Given the description of an element on the screen output the (x, y) to click on. 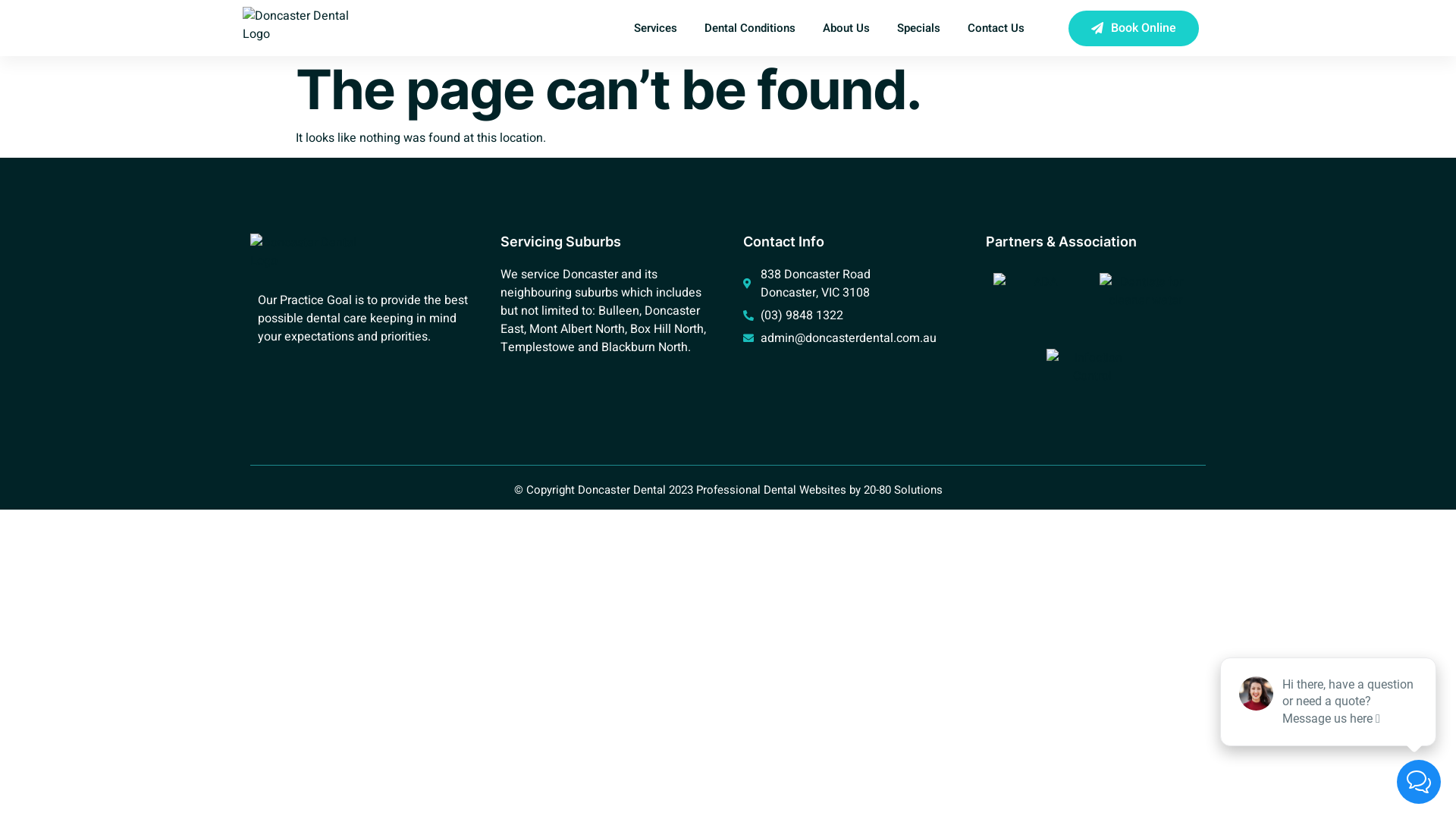
admin@doncasterdental.com.au Element type: text (849, 338)
Specials Element type: text (918, 27)
Book Online Element type: text (1133, 28)
Contact Us Element type: text (995, 27)
Blackburn North Element type: text (644, 347)
Box Hill North Element type: text (666, 329)
Dental Conditions Element type: text (749, 27)
Bulleen Element type: text (618, 310)
838 Doncaster Road
Doncaster, VIC 3108 Element type: text (849, 283)
Templestowe Element type: text (537, 347)
Services Element type: text (655, 27)
About Us Element type: text (845, 27)
(03) 9848 1322 Element type: text (849, 315)
Doncaster East Element type: text (599, 319)
